Given the description of an element on the screen output the (x, y) to click on. 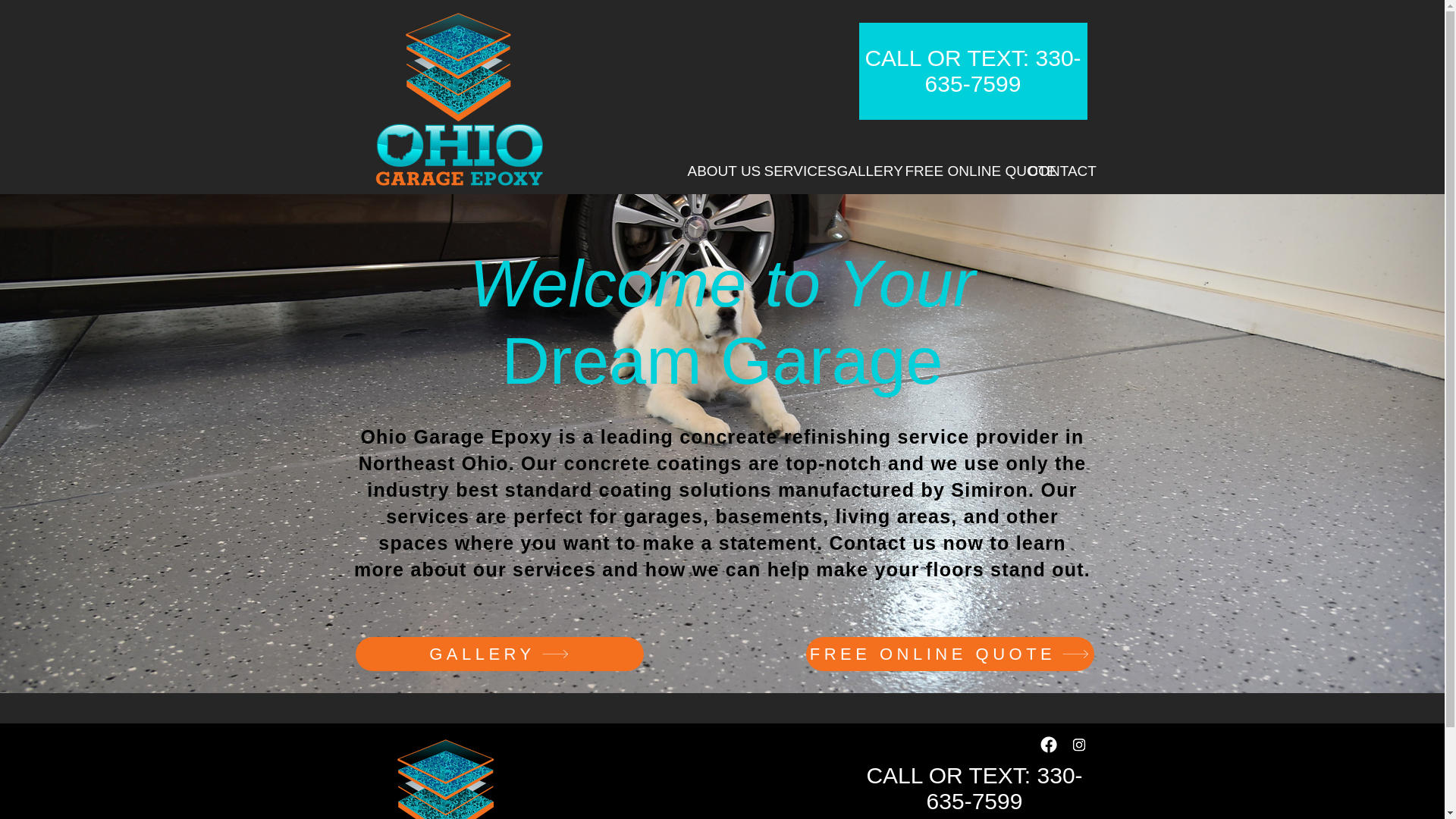
CONTACT (1051, 170)
ABOUT US (714, 170)
FREE ONLINE QUOTE (954, 170)
GALLERY (859, 170)
FREE ONLINE QUOTE (949, 653)
GALLERY (499, 653)
SERVICES (788, 170)
